Given the description of an element on the screen output the (x, y) to click on. 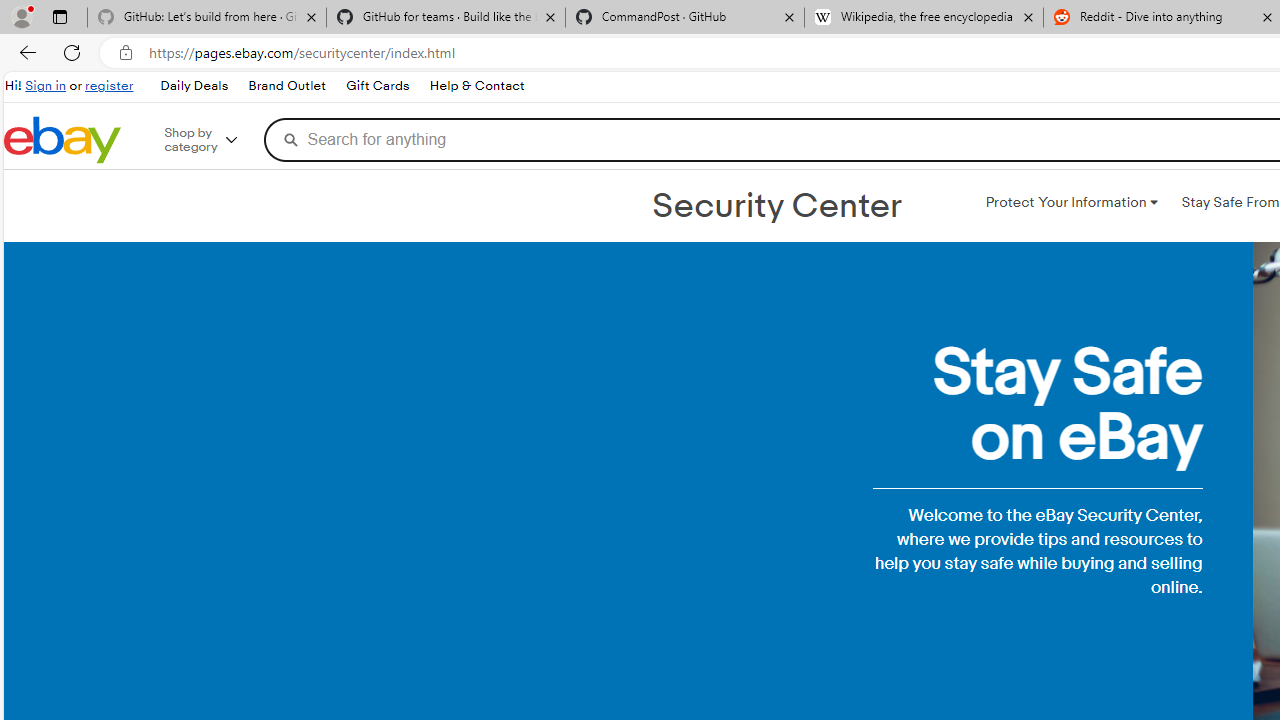
Shop by category (213, 140)
Gift Cards (376, 85)
Wikipedia, the free encyclopedia (924, 17)
Daily Deals (194, 86)
Help & Contact (475, 85)
Gift Cards (377, 86)
Help & Contact (476, 86)
Protect Your Information  (1071, 202)
Sign in (45, 85)
Security Center (776, 206)
eBay Home (62, 139)
